Given the description of an element on the screen output the (x, y) to click on. 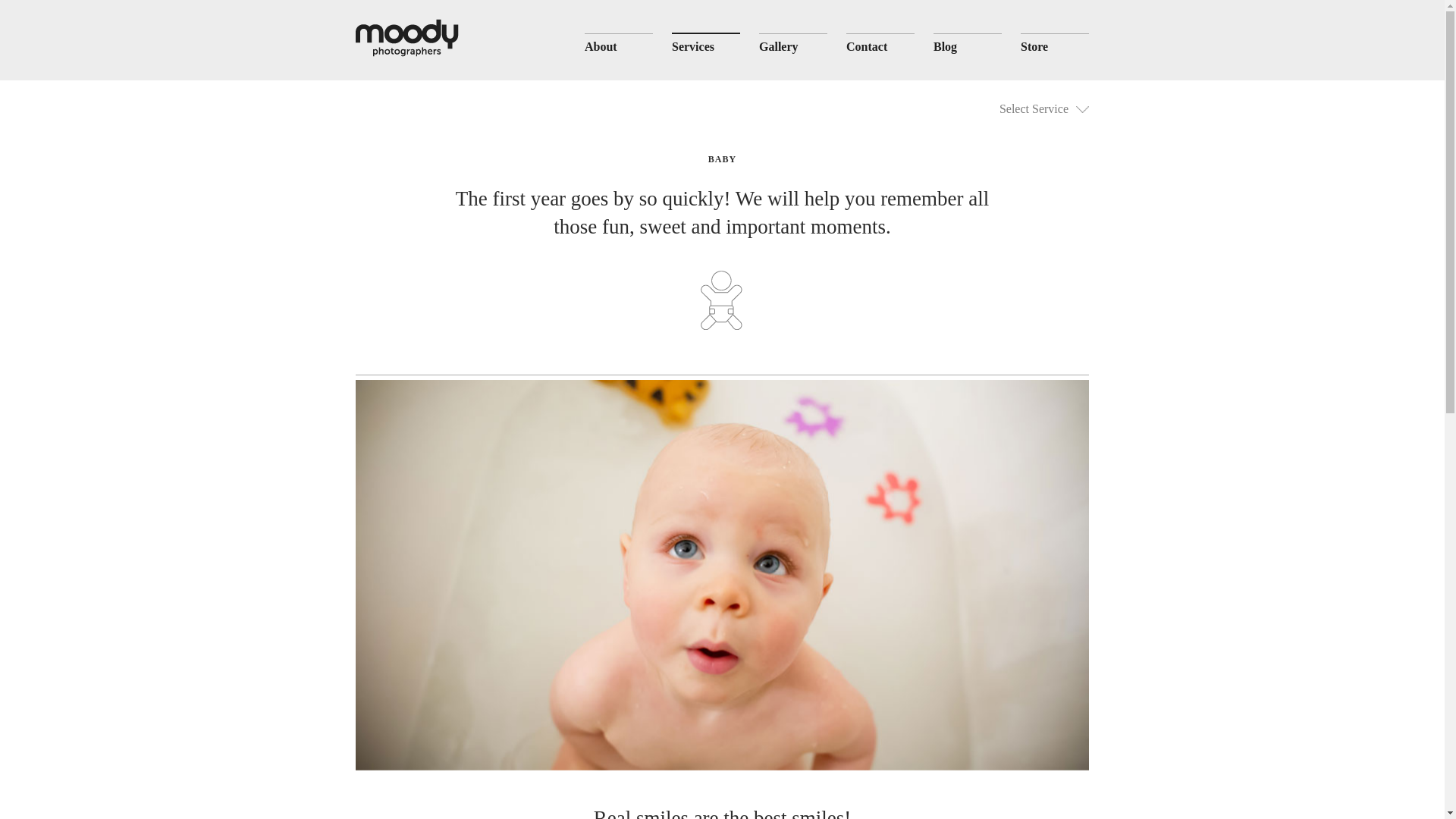
Services (692, 46)
Blog (37, 230)
About (601, 46)
Contact (865, 46)
Store (39, 259)
Gallery (777, 46)
Family (52, 147)
Read More (446, 5)
Baby (49, 131)
Gallery (44, 174)
Belly (48, 114)
Contact (45, 202)
Services (45, 64)
About (41, 37)
Blog (944, 46)
